Given the description of an element on the screen output the (x, y) to click on. 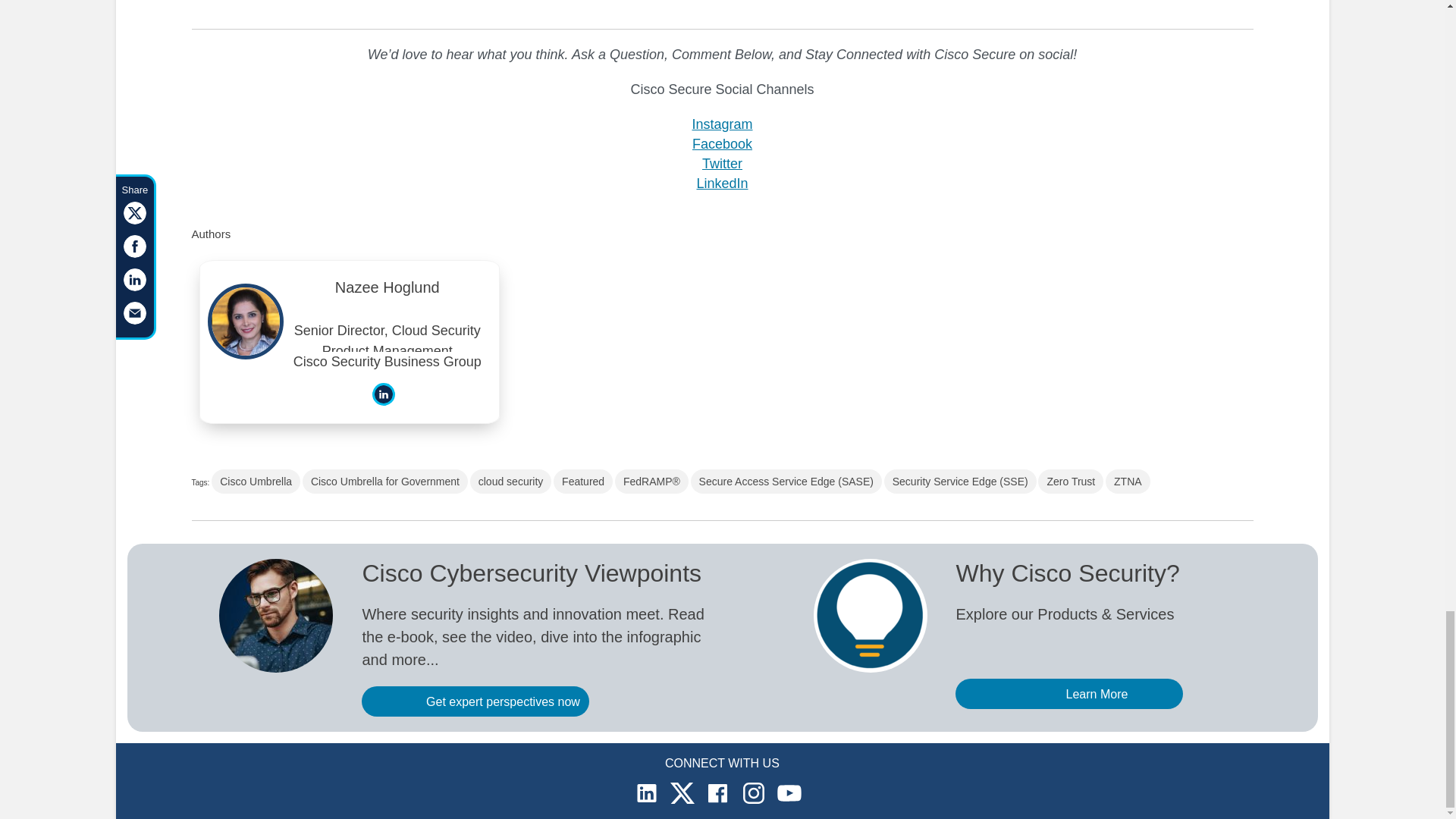
Instagram (721, 124)
LinkedIn (721, 183)
Featured (582, 481)
Facebook (722, 143)
Cisco Umbrella (255, 481)
cloud security (510, 481)
Cisco Umbrella for Government (384, 481)
Zero Trust (1070, 481)
Twitter (721, 163)
Nazee Hoglund (387, 291)
